Given the description of an element on the screen output the (x, y) to click on. 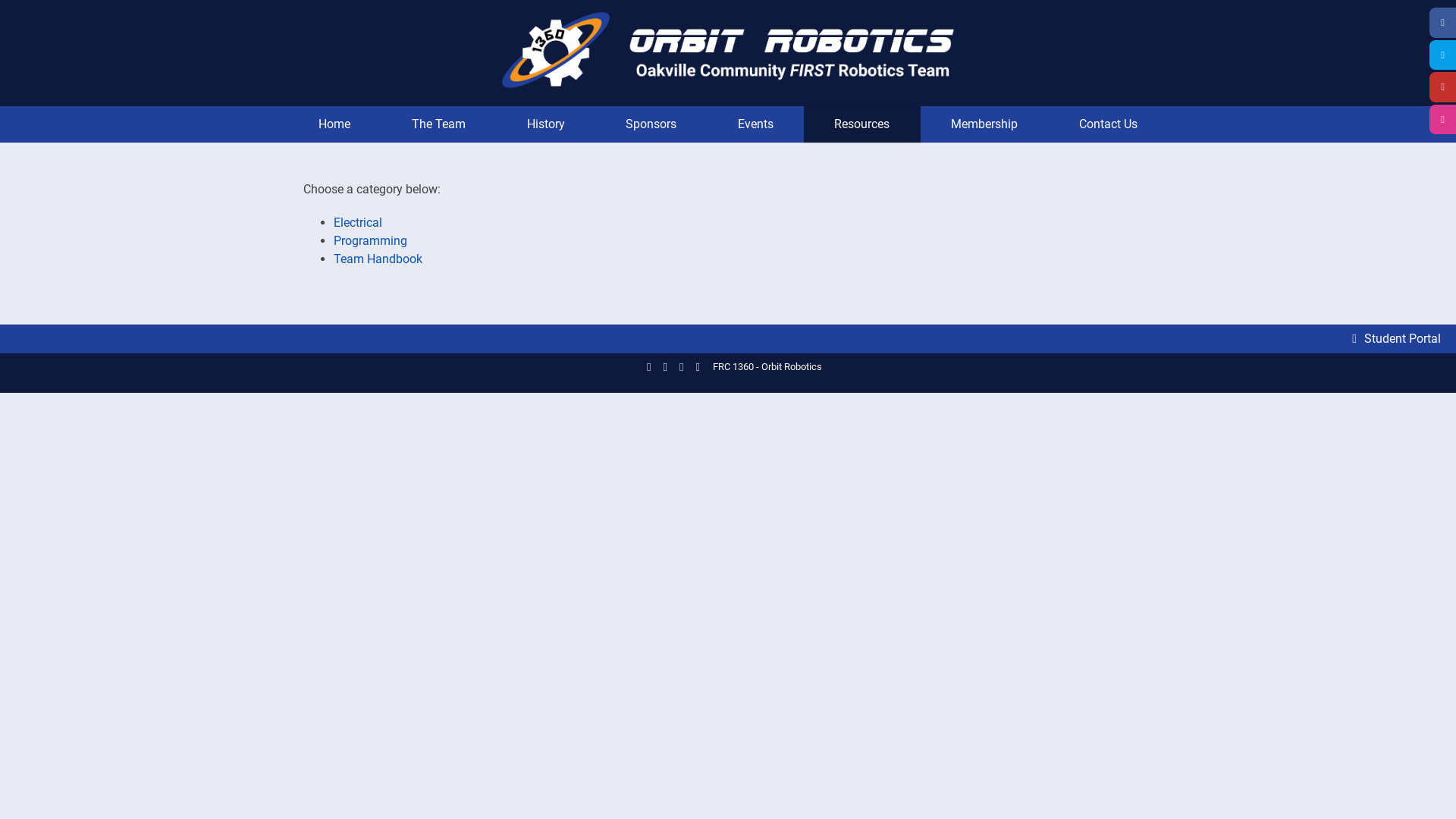
Contact Us Element type: text (1107, 124)
Programming Element type: text (370, 240)
Membership Element type: text (984, 124)
Follow Us on Twitter Element type: hover (665, 367)
Electrical Element type: text (357, 222)
History Element type: text (545, 124)
Team Handbook Element type: text (377, 258)
Find Us on Facebook Element type: hover (648, 367)
The Team Element type: text (438, 124)
Student Portal Element type: text (1396, 338)
Resources Element type: text (861, 124)
Home Element type: text (334, 124)
Events Element type: text (754, 124)
Follow Us on Instagram Element type: hover (696, 367)
View our YouTube Channel Element type: hover (680, 367)
Sponsors Element type: text (651, 124)
